Given the description of an element on the screen output the (x, y) to click on. 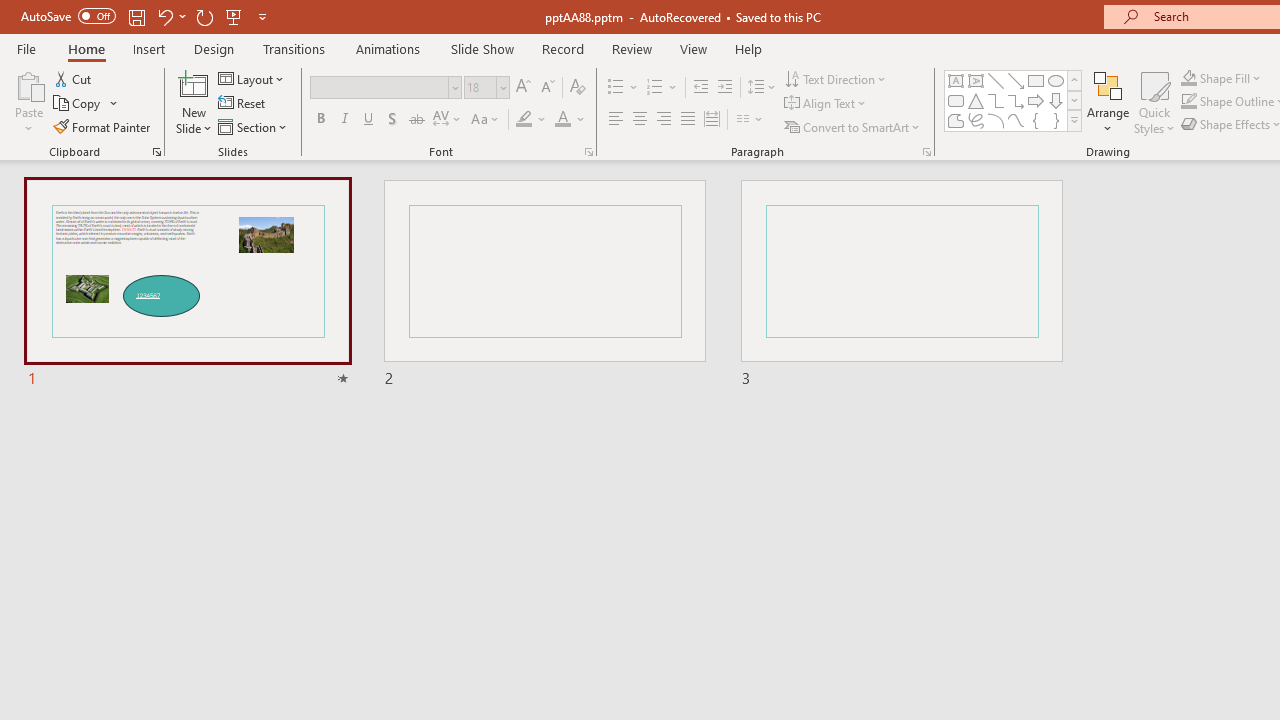
AutomationID: ShapesInsertGallery (1014, 100)
Clear Formatting (577, 87)
Numbering (661, 87)
Columns (750, 119)
Isosceles Triangle (975, 100)
Section (254, 126)
Text Direction (836, 78)
Increase Font Size (522, 87)
Layout (252, 78)
Paste (28, 84)
Bold (320, 119)
Font... (588, 151)
Distributed (712, 119)
Customize Quick Access Toolbar (262, 15)
